Given the description of an element on the screen output the (x, y) to click on. 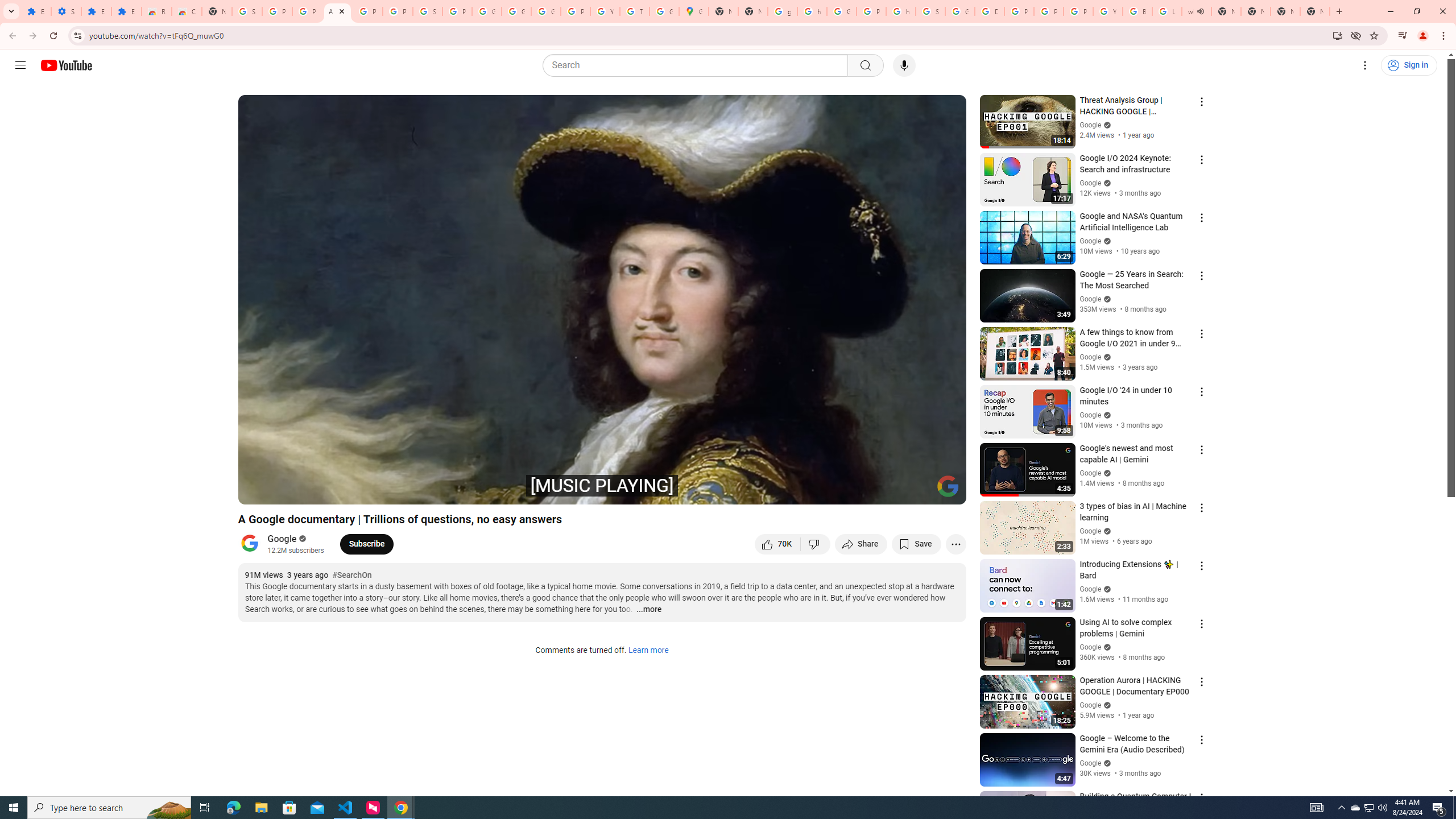
Seek slider (601, 476)
Sign in - Google Accounts (247, 11)
Sign in - Google Accounts (426, 11)
More actions (955, 543)
#SearchOn (351, 575)
New Tab (1284, 11)
like this video along with 70,975 other people (777, 543)
Share (861, 543)
